Given the description of an element on the screen output the (x, y) to click on. 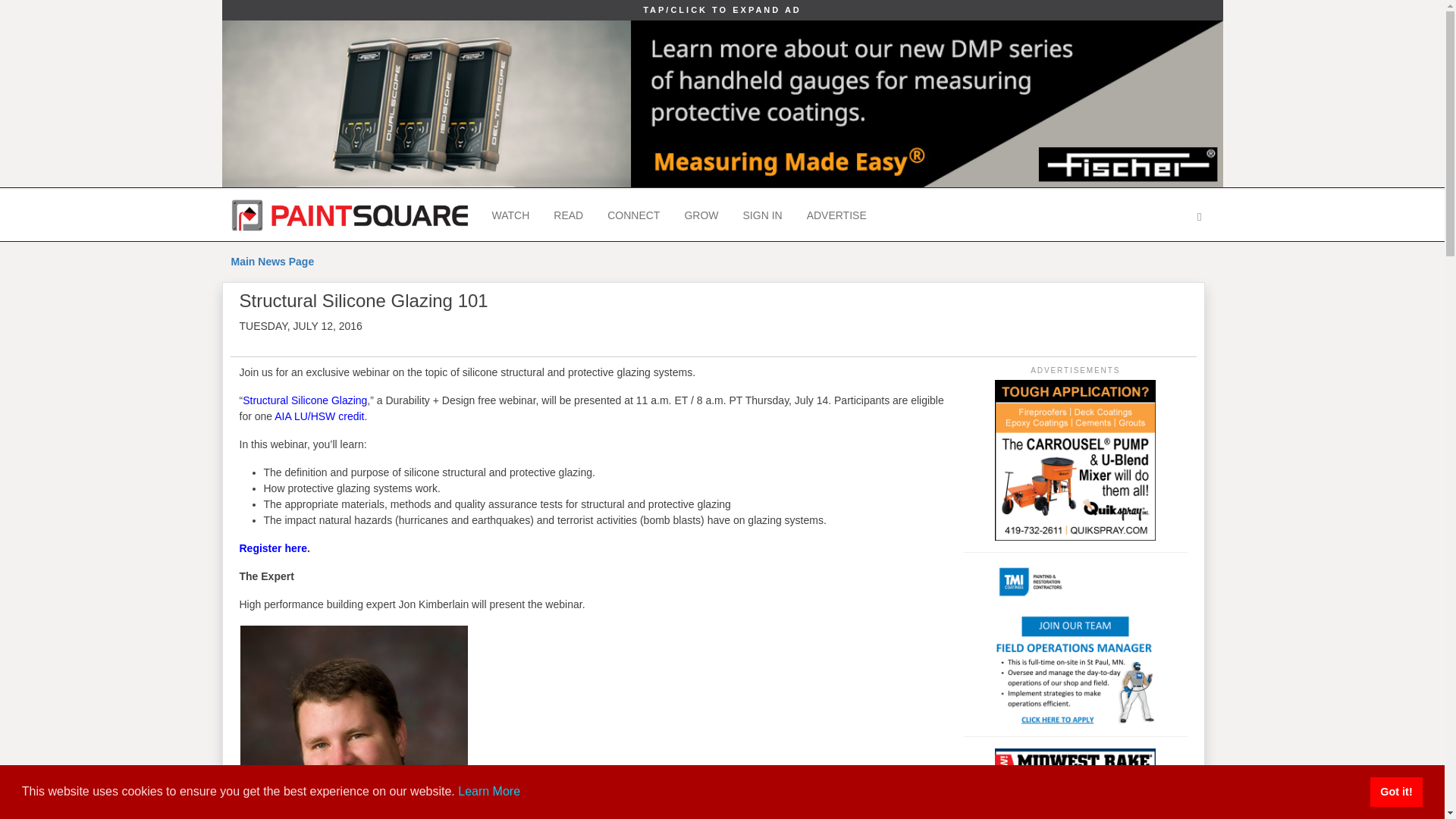
READ (568, 215)
Learn More (488, 790)
Got it! (1396, 791)
WATCH (510, 215)
PaintSquare Home (348, 214)
